Given the description of an element on the screen output the (x, y) to click on. 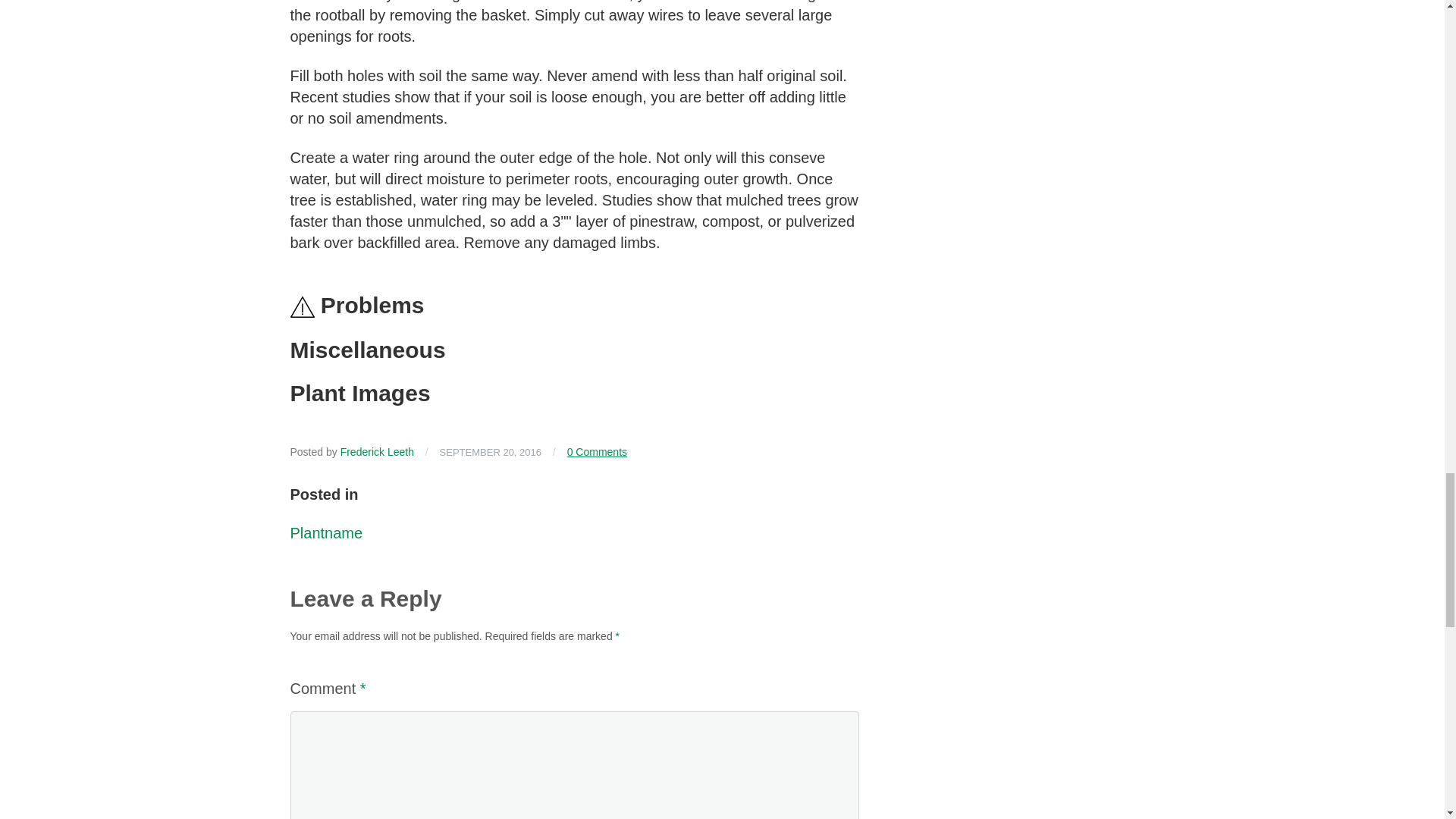
Posts by Frederick Leeth (376, 451)
